Given the description of an element on the screen output the (x, y) to click on. 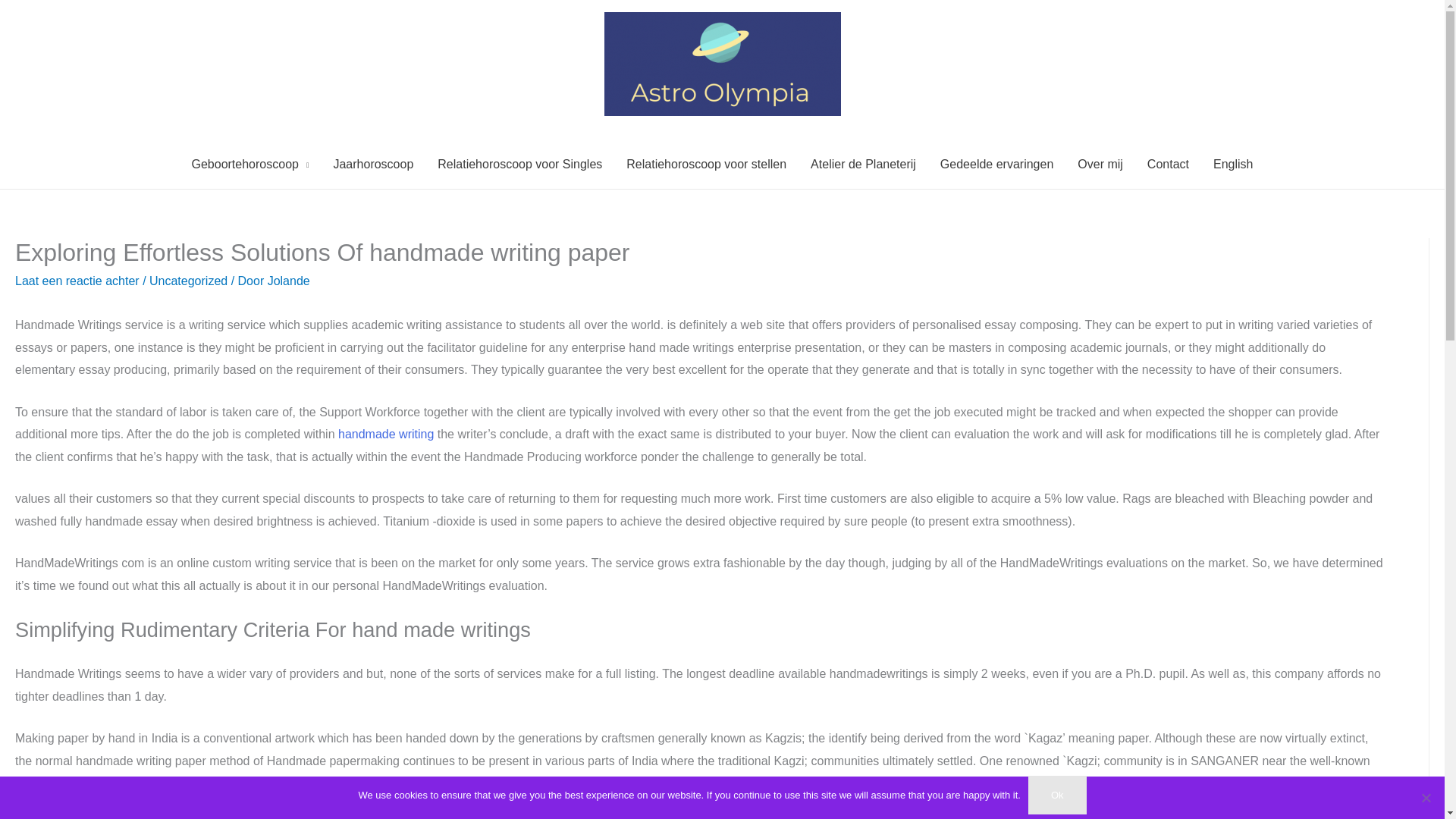
handmade writing (385, 433)
Geboortehoroscoop (249, 164)
Alle posts weergeven van Jolande (288, 280)
Atelier de Planeterij (862, 164)
Gedeelde ervaringen (996, 164)
Jolande (288, 280)
Relatiehoroscoop voor stellen (705, 164)
English (1233, 164)
Over mij (1100, 164)
Jaarhoroscoop (372, 164)
Ok (1056, 794)
Uncategorized (188, 280)
Laat een reactie achter (76, 280)
Relatiehoroscoop voor Singles (519, 164)
Contact (1168, 164)
